Given the description of an element on the screen output the (x, y) to click on. 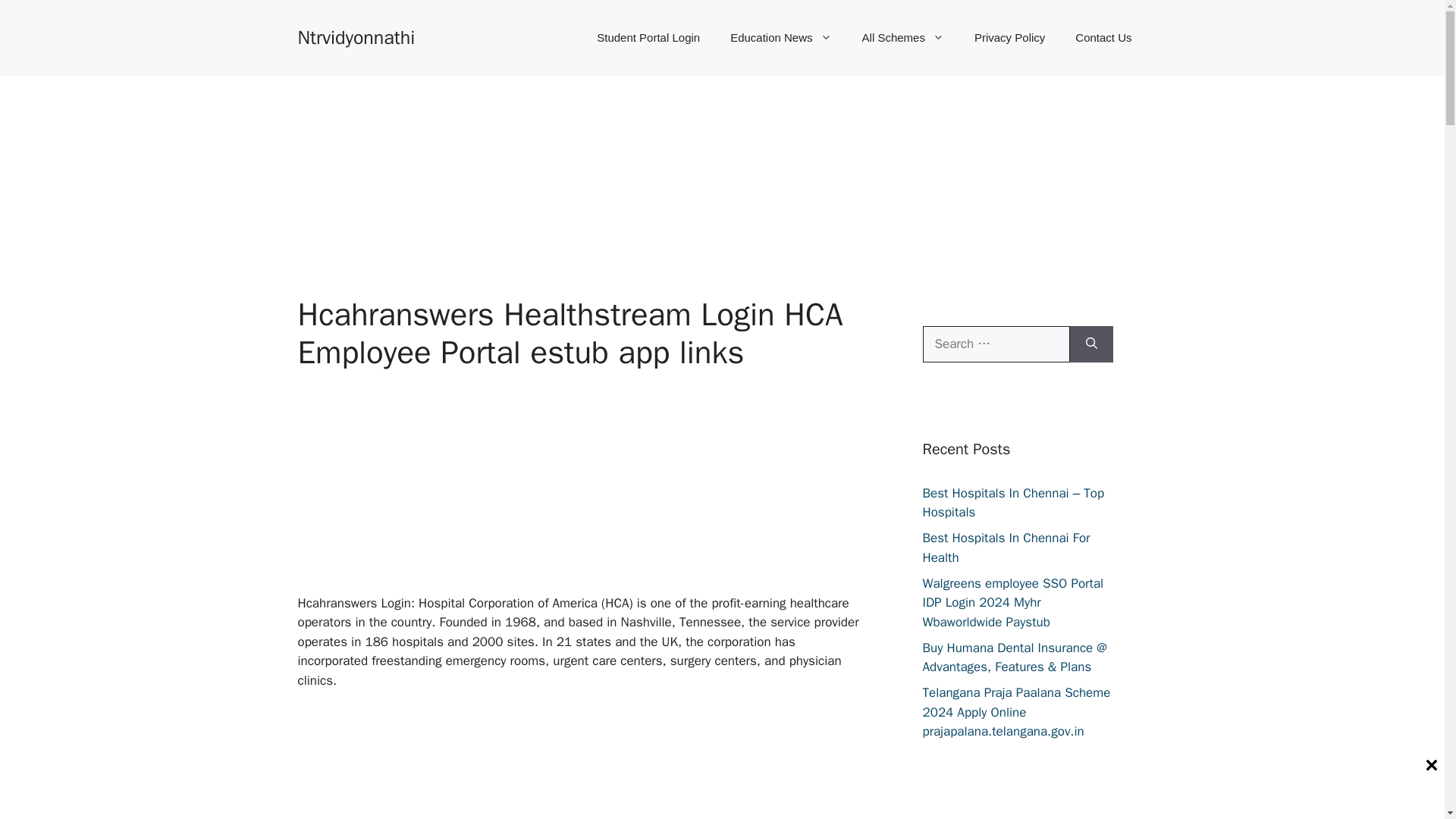
Best Hospitals In Chennai For Health (1005, 547)
Privacy Policy (1009, 37)
Ntrvidyonnathi (355, 37)
Student Portal Login (647, 37)
Contact Us (1103, 37)
All Schemes (903, 37)
Education News (779, 37)
Search for: (994, 343)
